Given the description of an element on the screen output the (x, y) to click on. 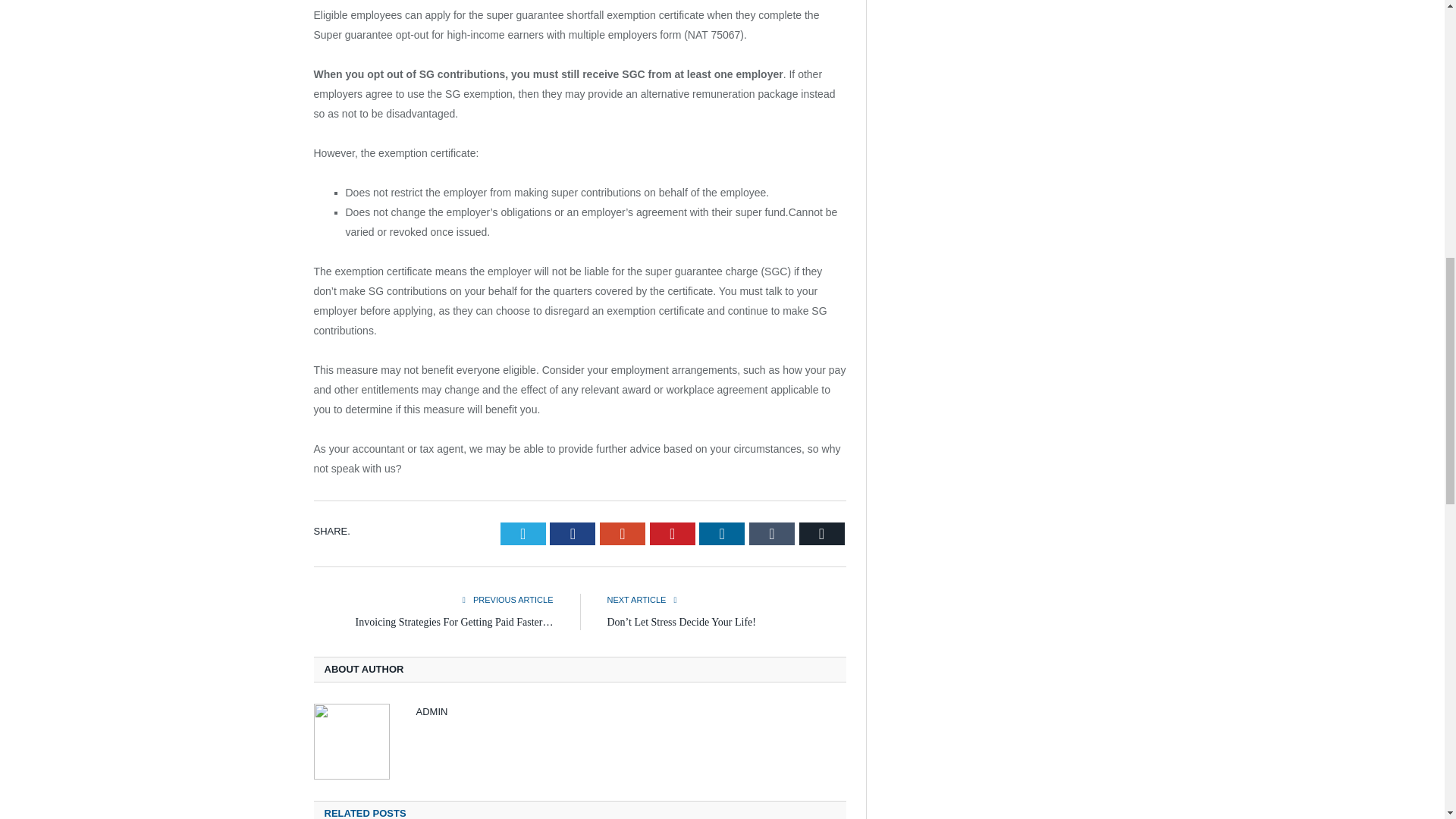
Email (821, 533)
ADMIN (430, 711)
Twitter (523, 533)
Pinterest (672, 533)
LinkedIn (721, 533)
Tumblr (771, 533)
Facebook (572, 533)
